Given the description of an element on the screen output the (x, y) to click on. 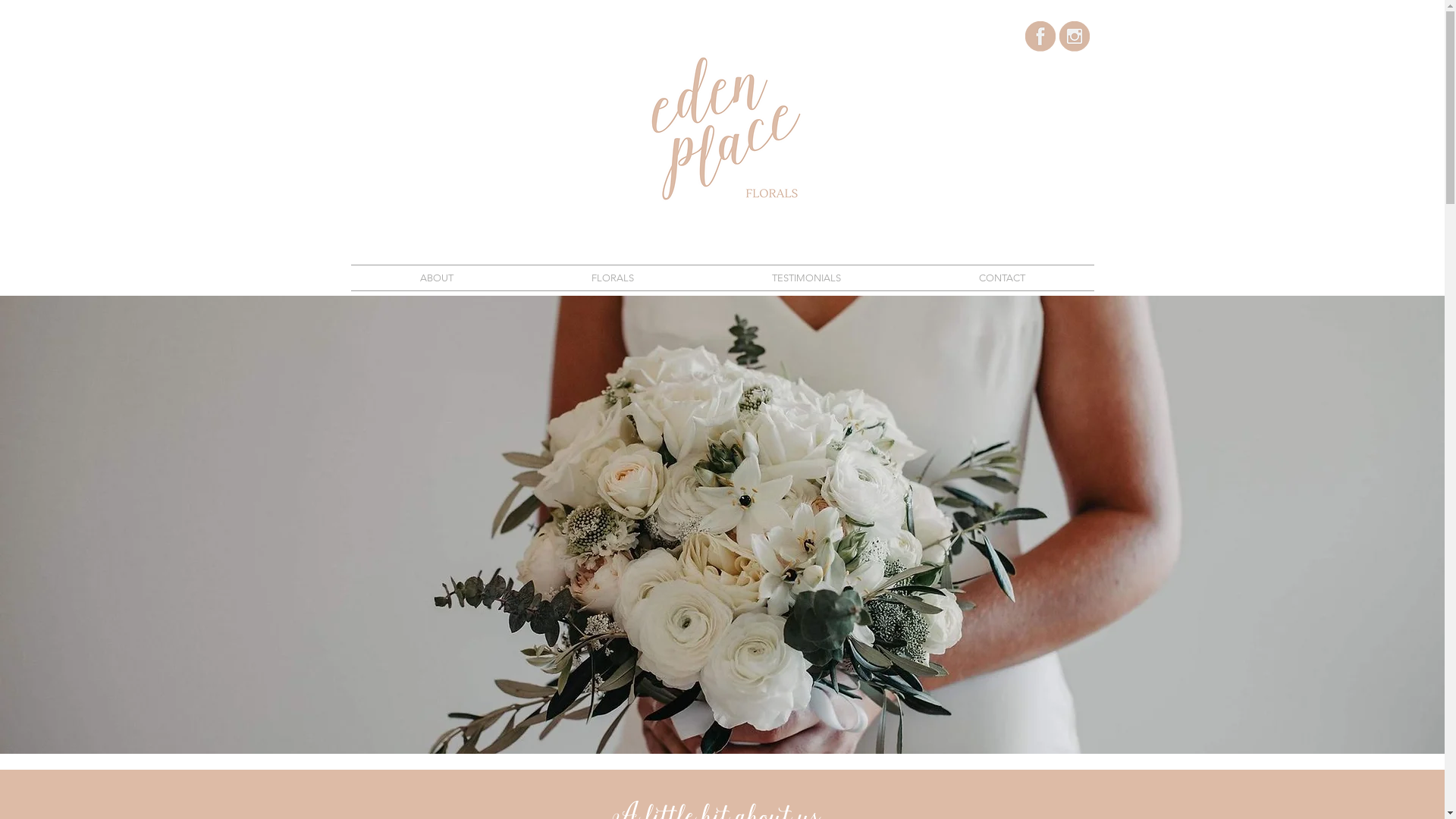
FB-edenplace.png Element type: hover (1040, 36)
CONTACT Element type: text (1002, 277)
FLORALS Element type: text (611, 277)
insta-edenplace.png Element type: hover (1073, 36)
TESTIMONIALS Element type: text (805, 277)
ABOUT Element type: text (435, 277)
